Given the description of an element on the screen output the (x, y) to click on. 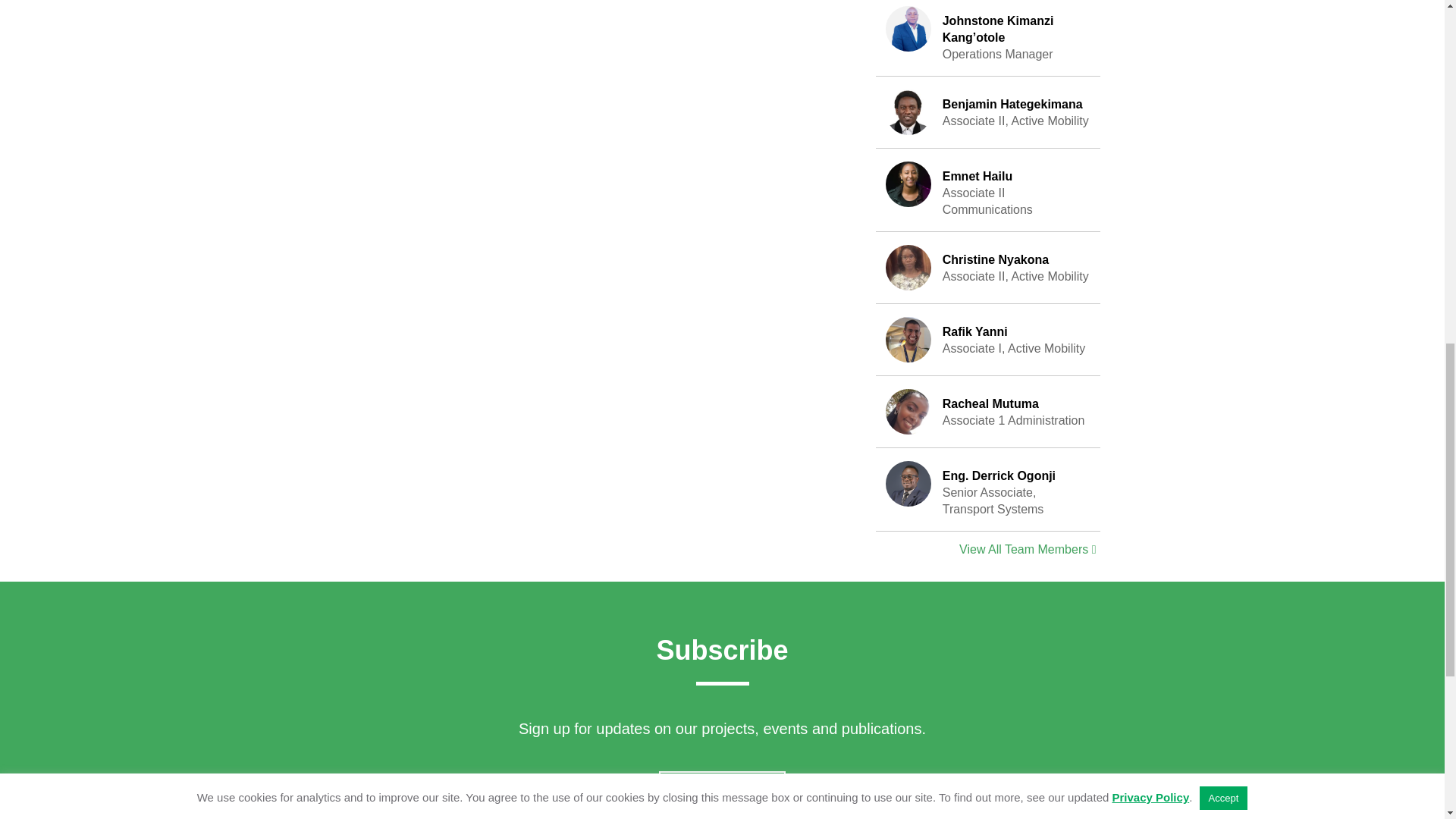
Christine Nyakona (908, 267)
Rafik (908, 339)
Emnet-3 (988, 411)
Racheal Mutuma (988, 267)
Benjamin HATEGEKIMANA (988, 189)
Eng. Derrick Ogonji (908, 184)
Johnstone Kimanzi Kang'otole (988, 112)
